Given the description of an element on the screen output the (x, y) to click on. 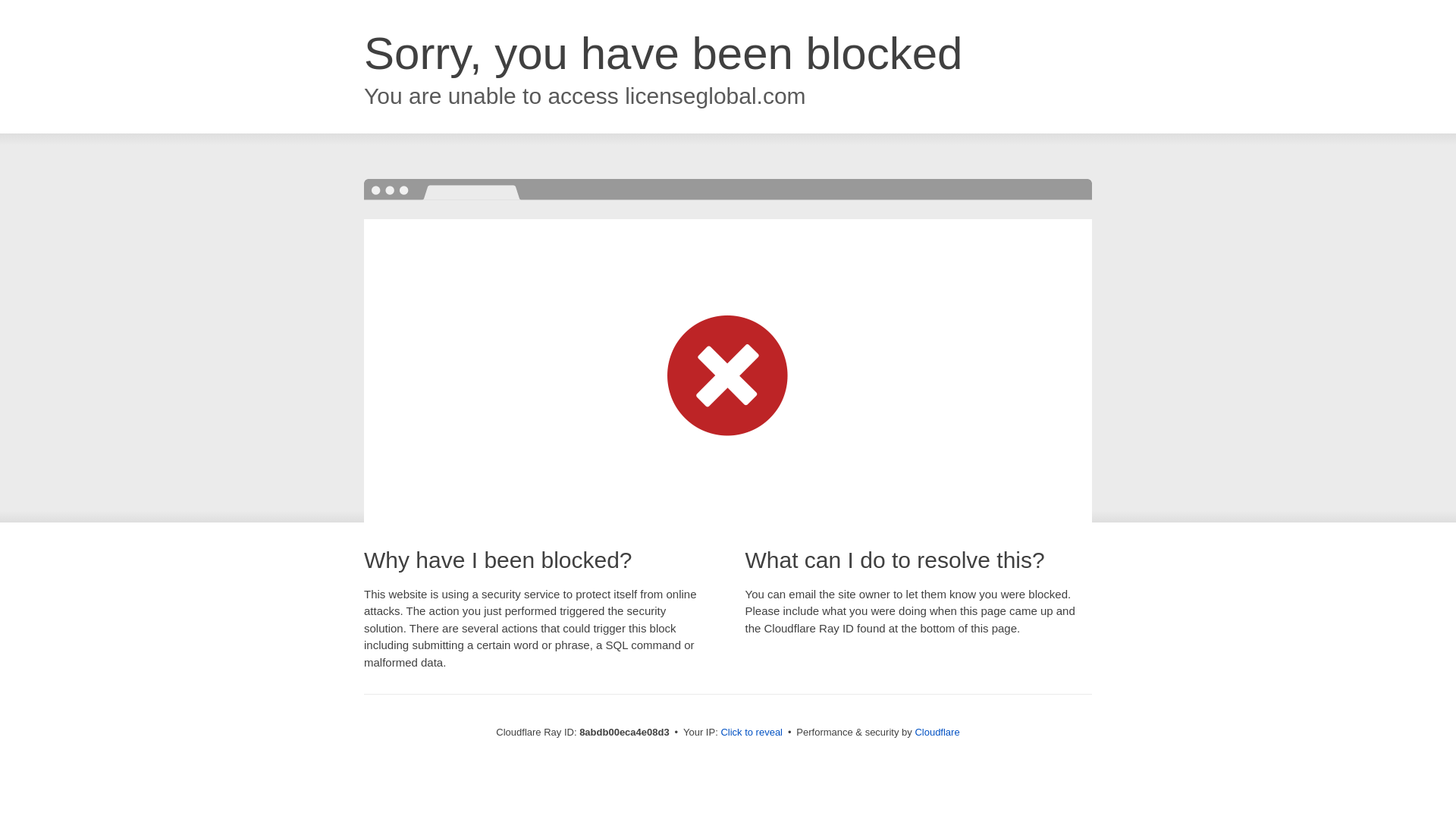
Cloudflare (936, 731)
Click to reveal (751, 732)
